Given the description of an element on the screen output the (x, y) to click on. 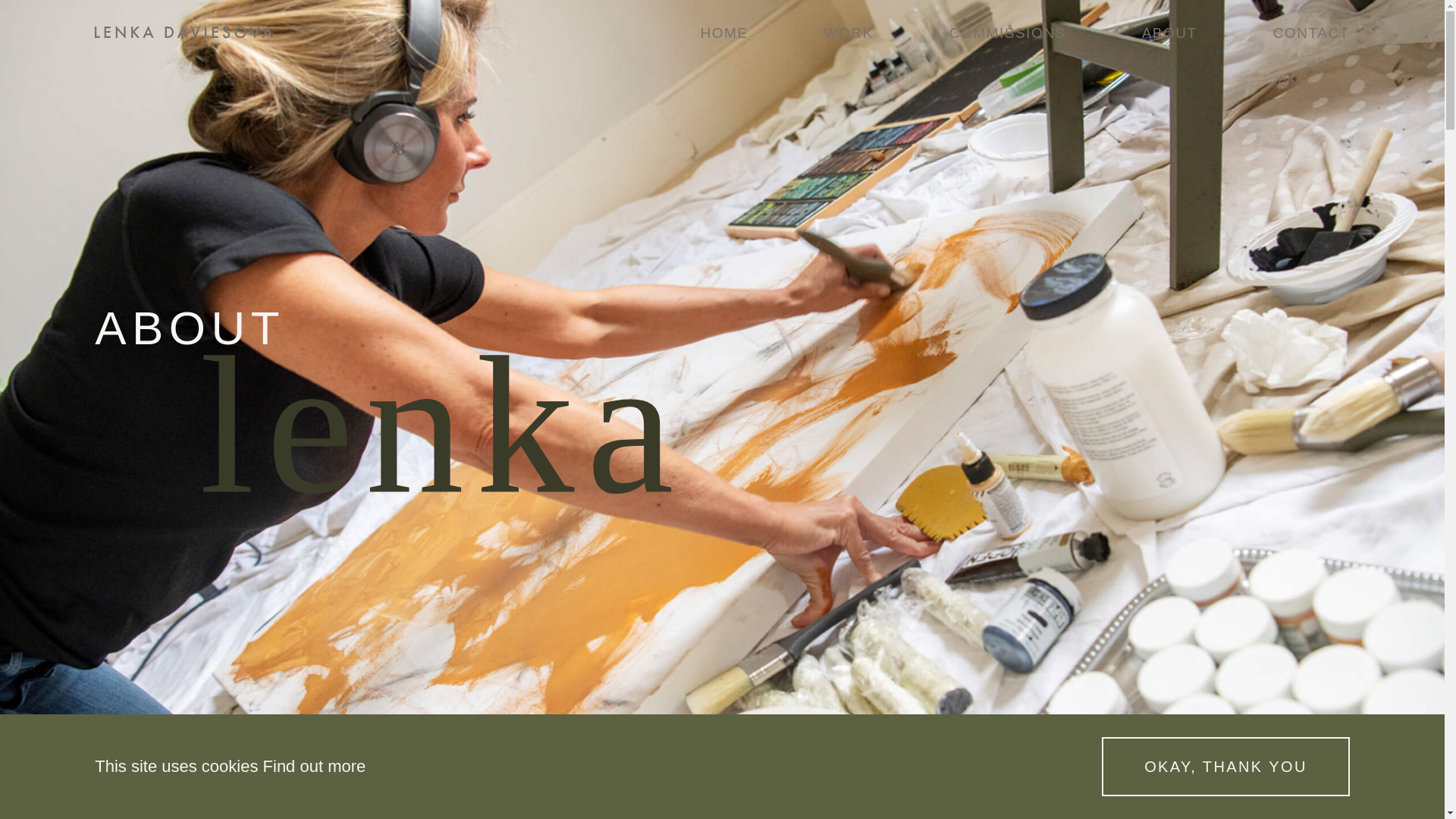
OKAY, THANK YOU (1225, 766)
Find out more (314, 765)
CONTACT (1310, 33)
COMMISSIONS (1007, 33)
